Given the description of an element on the screen output the (x, y) to click on. 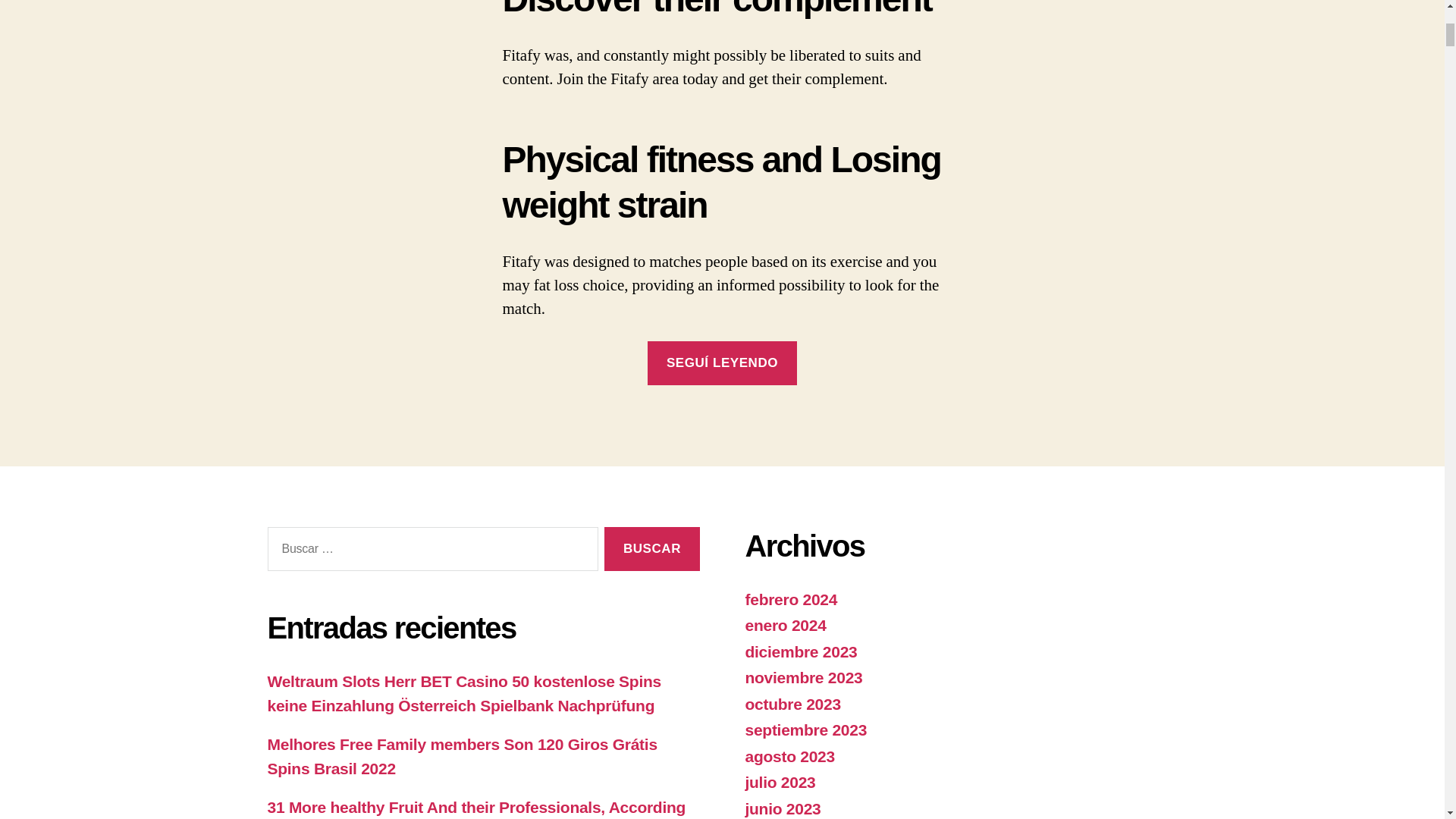
Buscar (651, 549)
Buscar (651, 549)
